Given the description of an element on the screen output the (x, y) to click on. 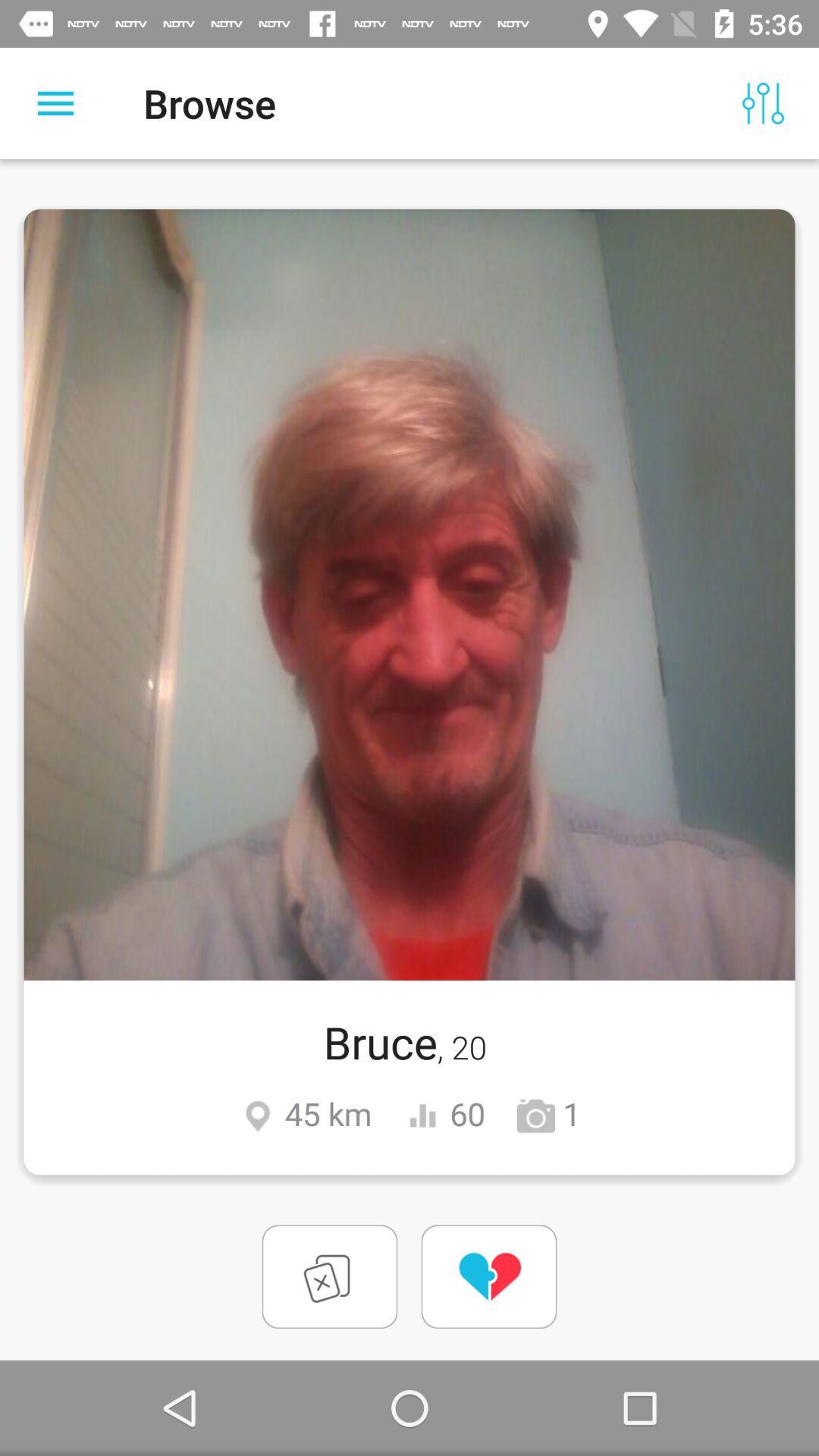
launch the icon to the left of the browse item (55, 103)
